Given the description of an element on the screen output the (x, y) to click on. 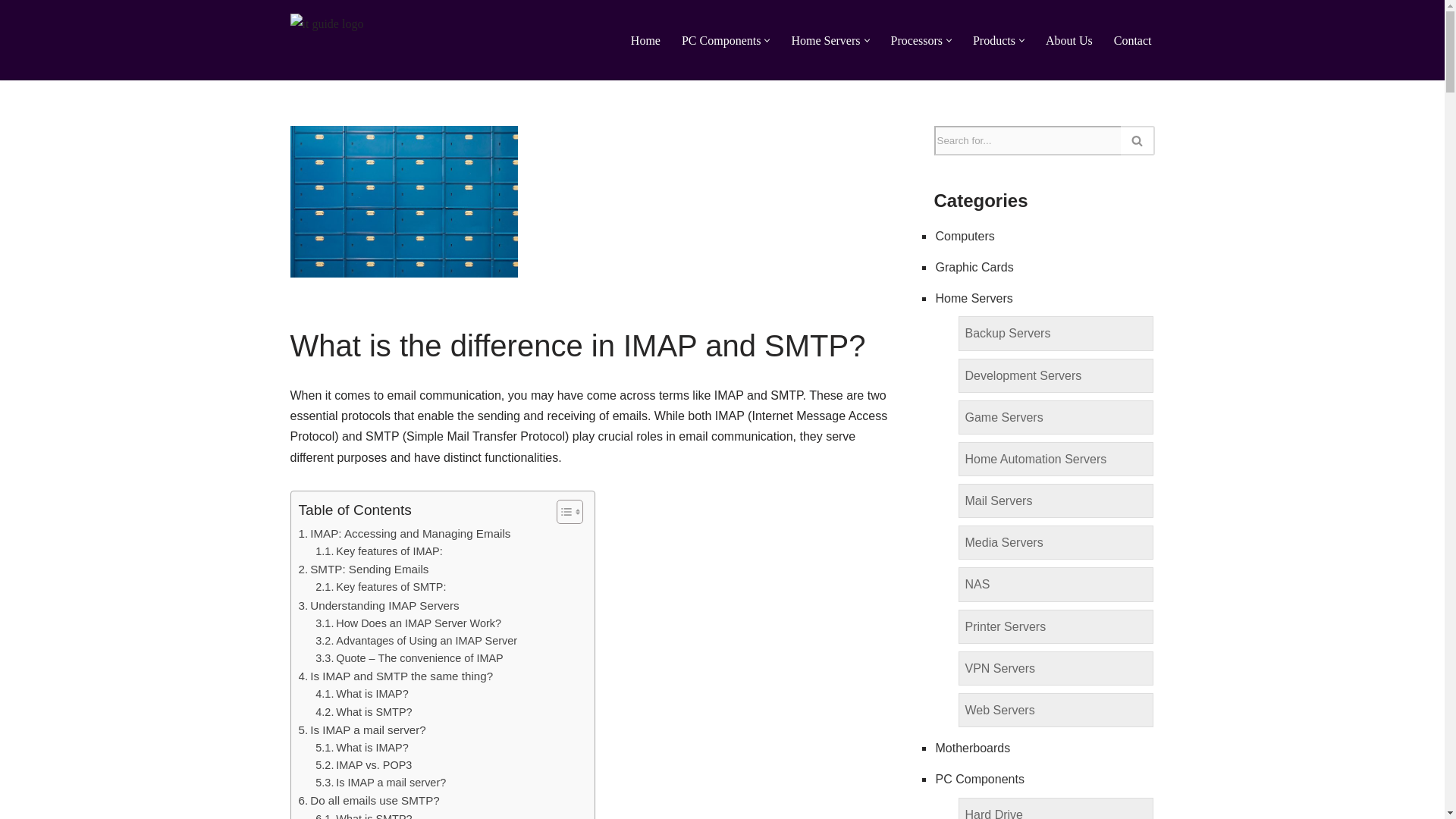
How Does an IMAP Server Work? (407, 623)
Key features of IMAP: (378, 551)
Key features of SMTP: (380, 587)
Home (645, 40)
Skip to content (11, 31)
Processors (916, 40)
Advantages of Using an IMAP Server (415, 641)
About Us (1069, 40)
SMTP: Sending Emails (363, 569)
What is SMTP? (363, 712)
